Given the description of an element on the screen output the (x, y) to click on. 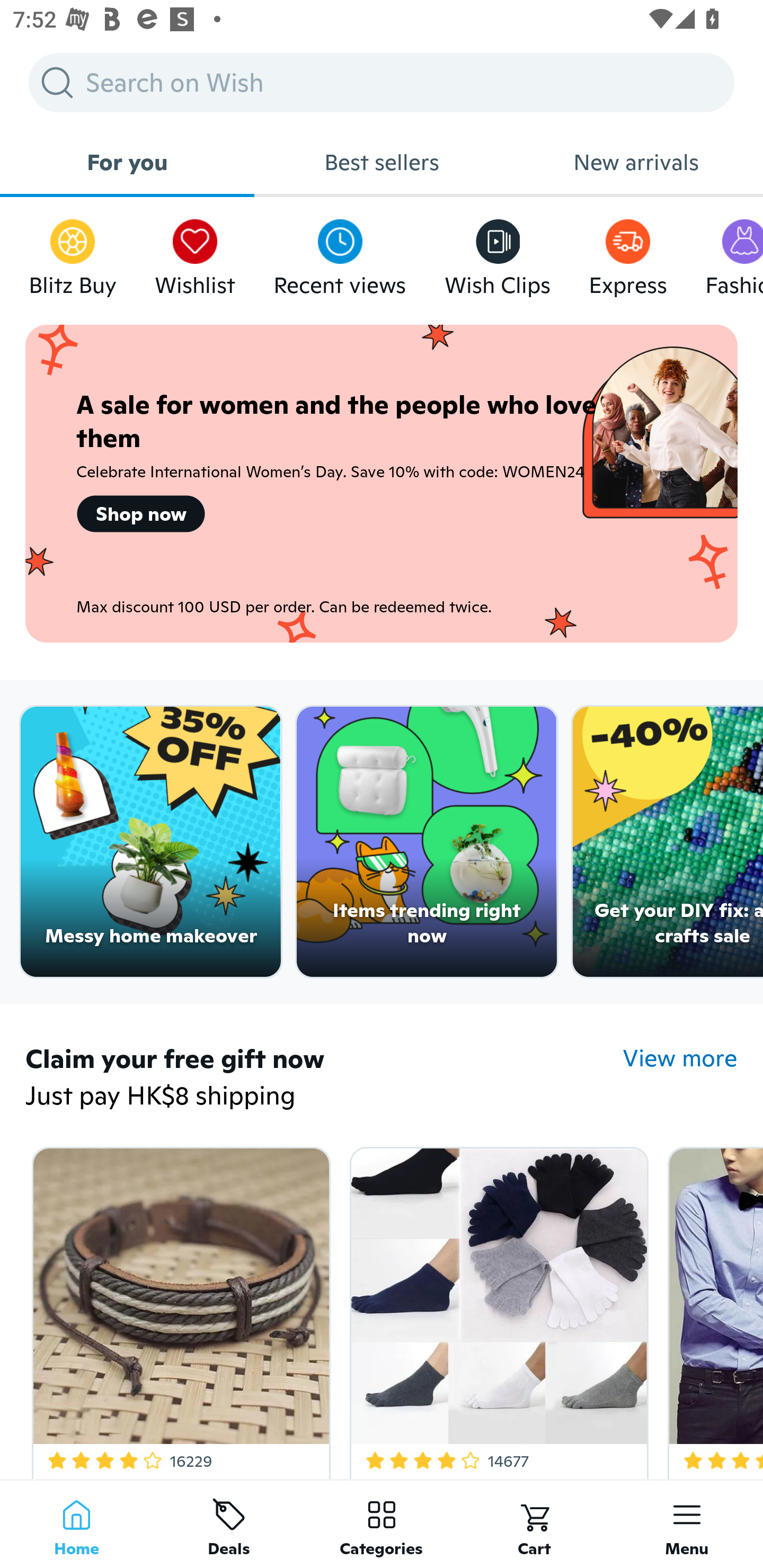
Search on Wish (381, 82)
For you (127, 161)
Best sellers (381, 161)
New arrivals (635, 161)
Blitz Buy (72, 252)
Wishlist (194, 252)
Recent views (339, 252)
Wish Clips (497, 252)
Express (627, 252)
Fashion (734, 252)
Messy home makeover (150, 841)
Items trending right now (426, 841)
Get your DIY fix: arts & crafts sale (668, 841)
Claim your free gift now
Just pay HK$8 shipping (323, 1078)
View more (679, 1058)
3.8 Star Rating 16229 Free (177, 1308)
4.2 Star Rating 14677 Free (495, 1308)
Home (76, 1523)
Deals (228, 1523)
Categories (381, 1523)
Cart (533, 1523)
Menu (686, 1523)
